Given the description of an element on the screen output the (x, y) to click on. 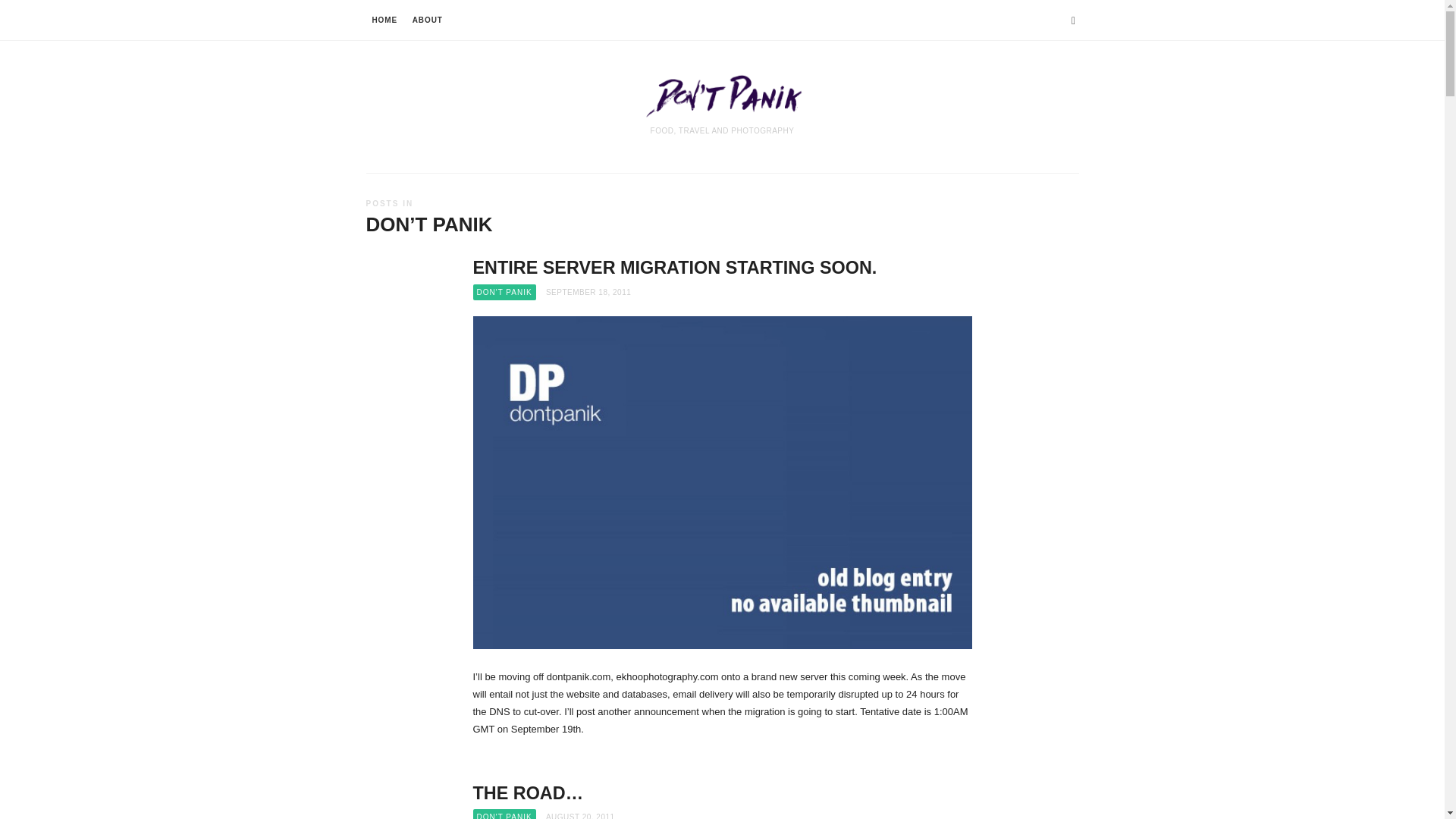
ENTIRE SERVER MIGRATION STARTING SOON. (675, 267)
DON'T PANIK (504, 814)
DON'T PANIK (504, 292)
